Given the description of an element on the screen output the (x, y) to click on. 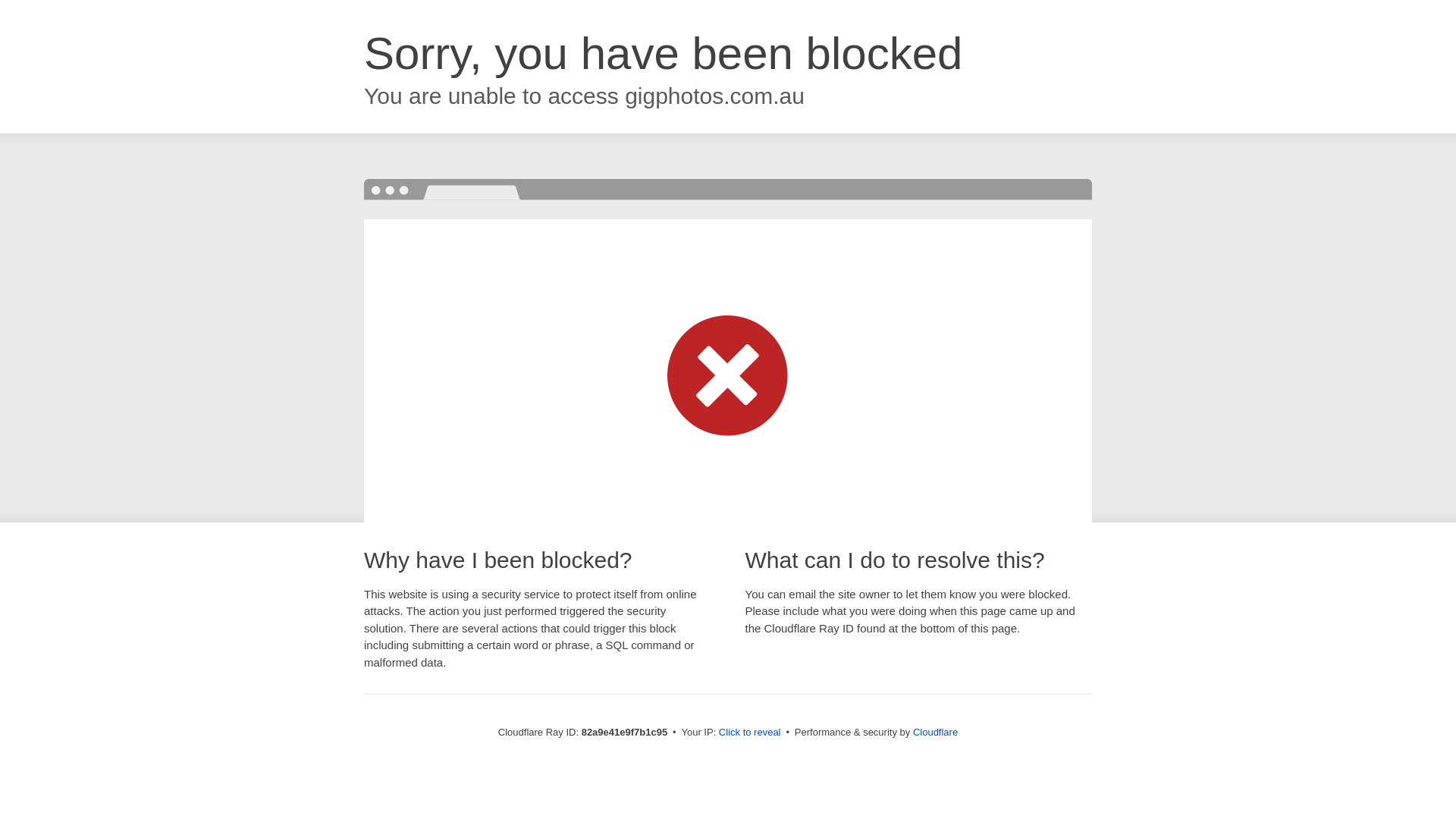
Cloudflare Element type: text (935, 731)
Click to reveal Element type: text (749, 732)
